Given the description of an element on the screen output the (x, y) to click on. 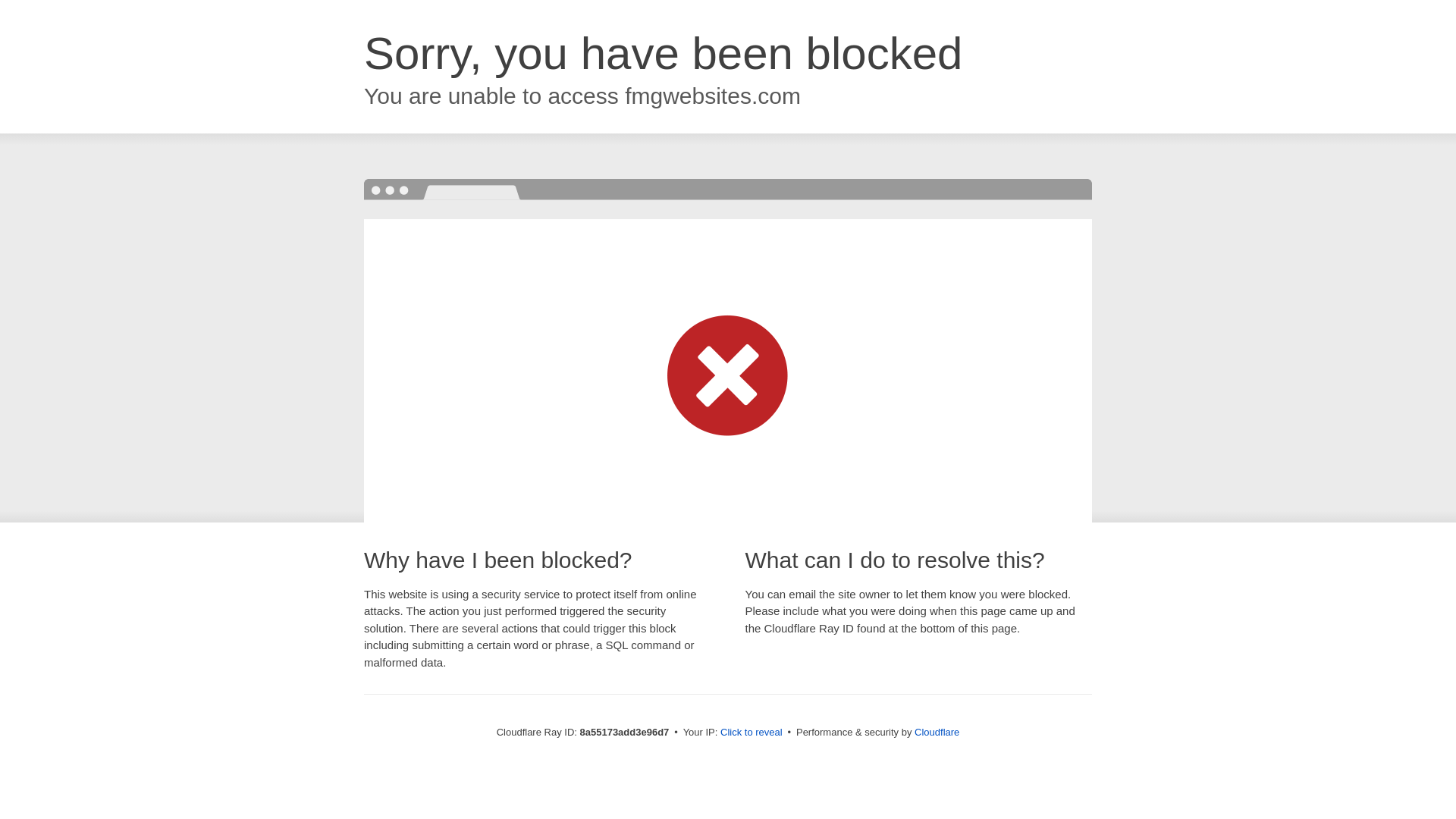
Click to reveal (751, 732)
Cloudflare (936, 731)
